Given the description of an element on the screen output the (x, y) to click on. 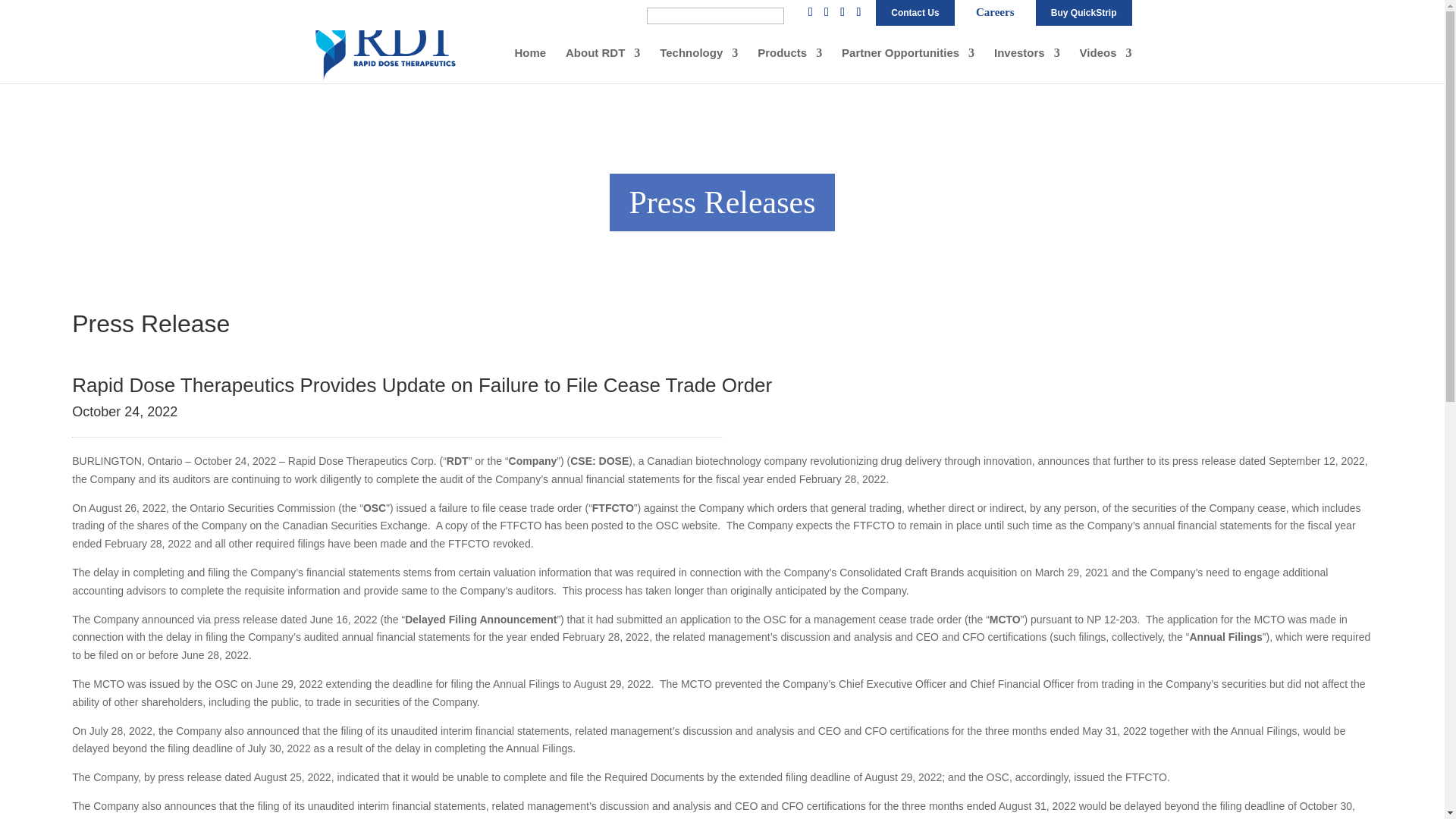
Home (529, 65)
Search (21, 7)
Products (789, 65)
Careers (995, 11)
Contact Us (914, 16)
Buy QuickStrip (1083, 11)
About RDT (603, 65)
Technology (698, 65)
